Given the description of an element on the screen output the (x, y) to click on. 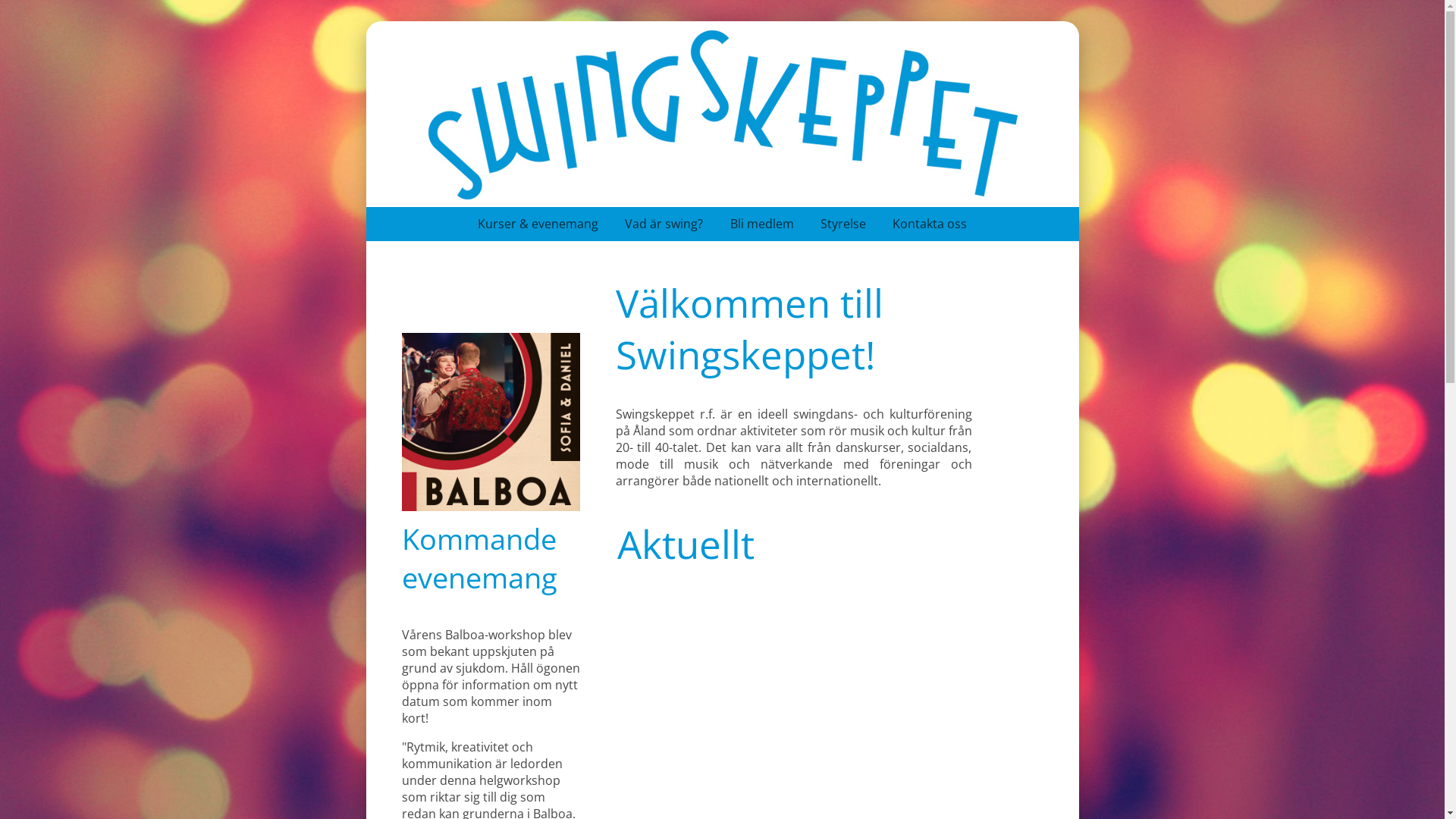
Kurser & evenemang Element type: text (550, 224)
Styrelse Element type: text (856, 224)
Bli medlem Element type: text (774, 224)
Kontakta oss Element type: text (929, 224)
